Given the description of an element on the screen output the (x, y) to click on. 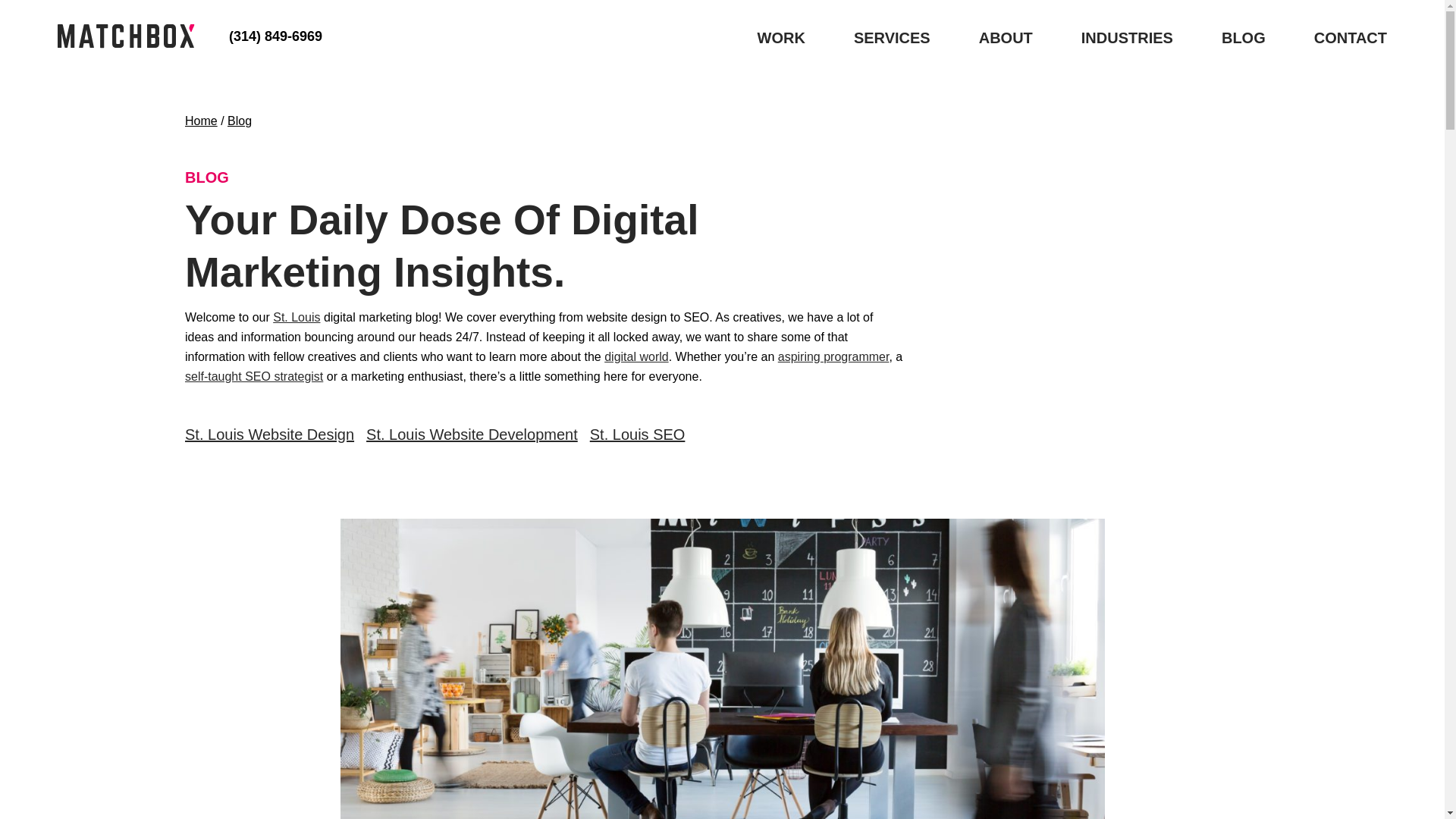
St. Louis Website Development (472, 434)
Go to Blog. (239, 120)
Blog (239, 120)
St. Louis Website Design (268, 434)
Go to Matchbox Design Group. (200, 120)
St. Louis (296, 317)
INDUSTRIES (1127, 37)
BLOG (1243, 37)
SERVICES (891, 37)
digital world (636, 356)
